Given the description of an element on the screen output the (x, y) to click on. 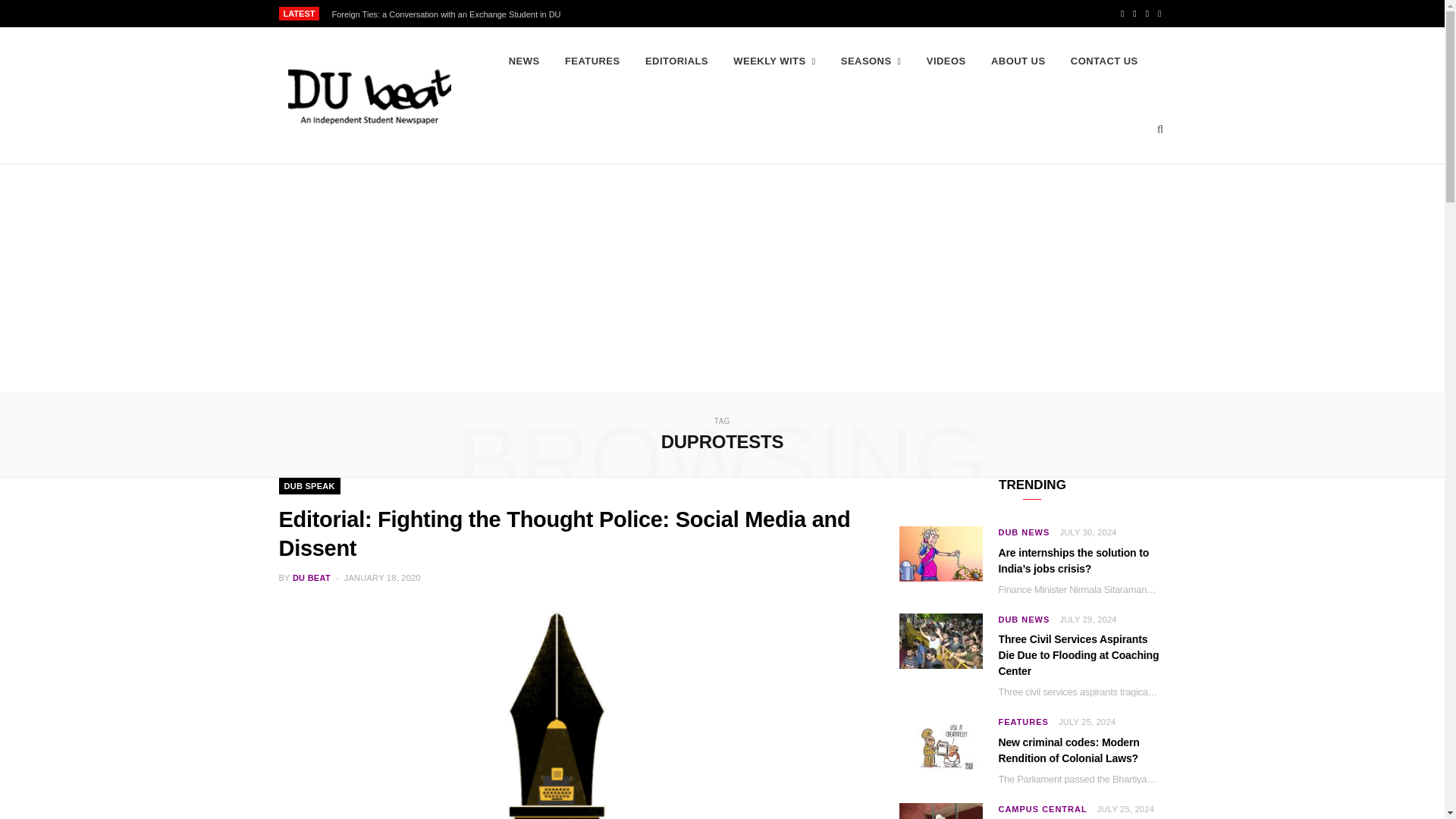
FEATURES (592, 61)
Foreign Ties: a Conversation with an Exchange Student in DU (449, 14)
WEEKLY WITS (774, 61)
EDITORIALS (676, 61)
Foreign Ties: a Conversation with an Exchange Student in DU (449, 14)
